Given the description of an element on the screen output the (x, y) to click on. 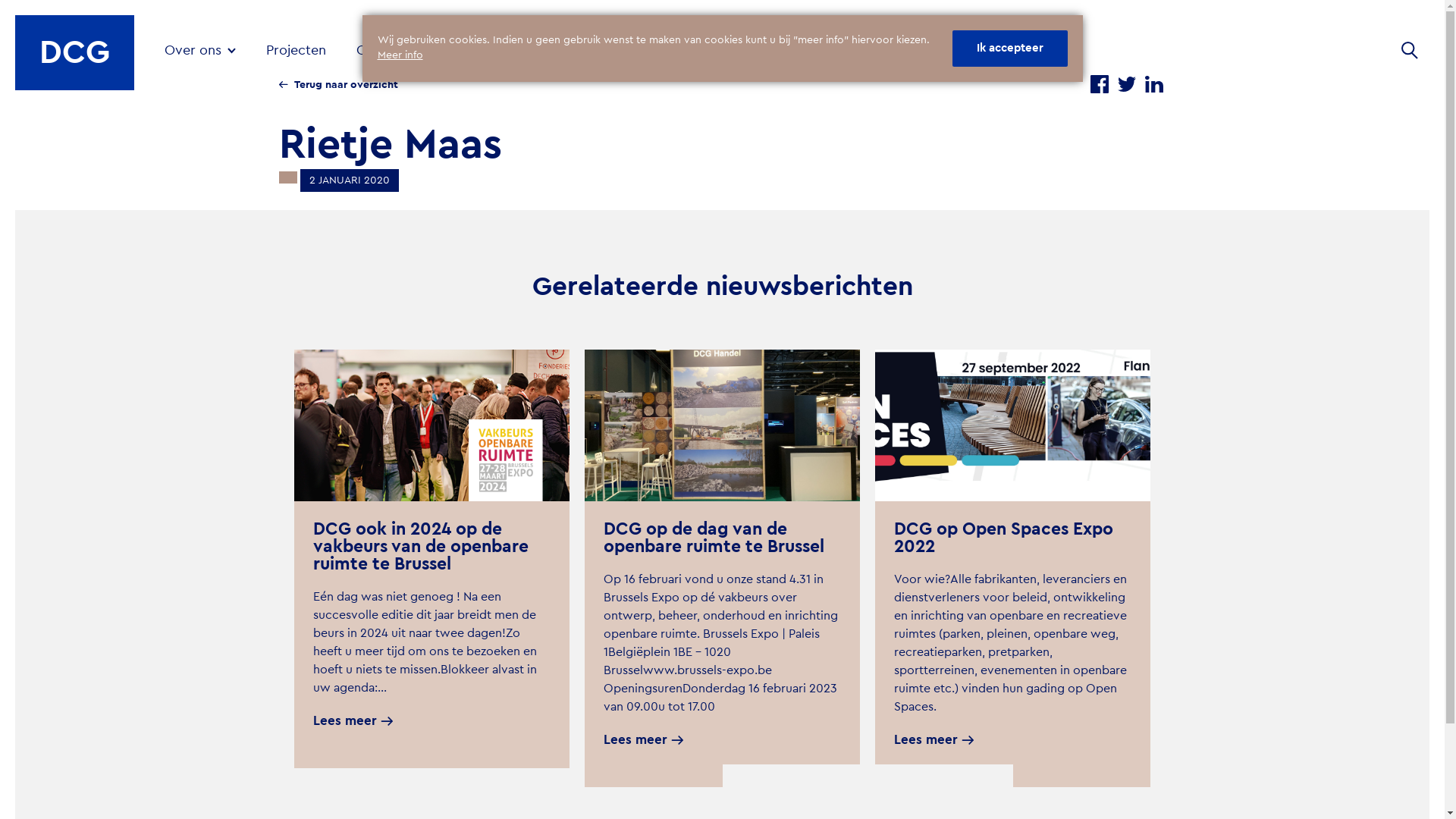
Meer info Element type: text (400, 55)
DCG Element type: text (74, 59)
Lees meer Element type: text (352, 720)
Nieuws Element type: text (500, 49)
Lees meer Element type: text (643, 739)
Terug naar overzicht Element type: text (338, 84)
Over ons Element type: text (200, 49)
Projecten Element type: text (296, 49)
Lees meer Element type: text (933, 739)
Contact Element type: text (579, 49)
Ik accepteer Element type: text (1009, 48)
Oplossingen Element type: text (401, 49)
